Given the description of an element on the screen output the (x, y) to click on. 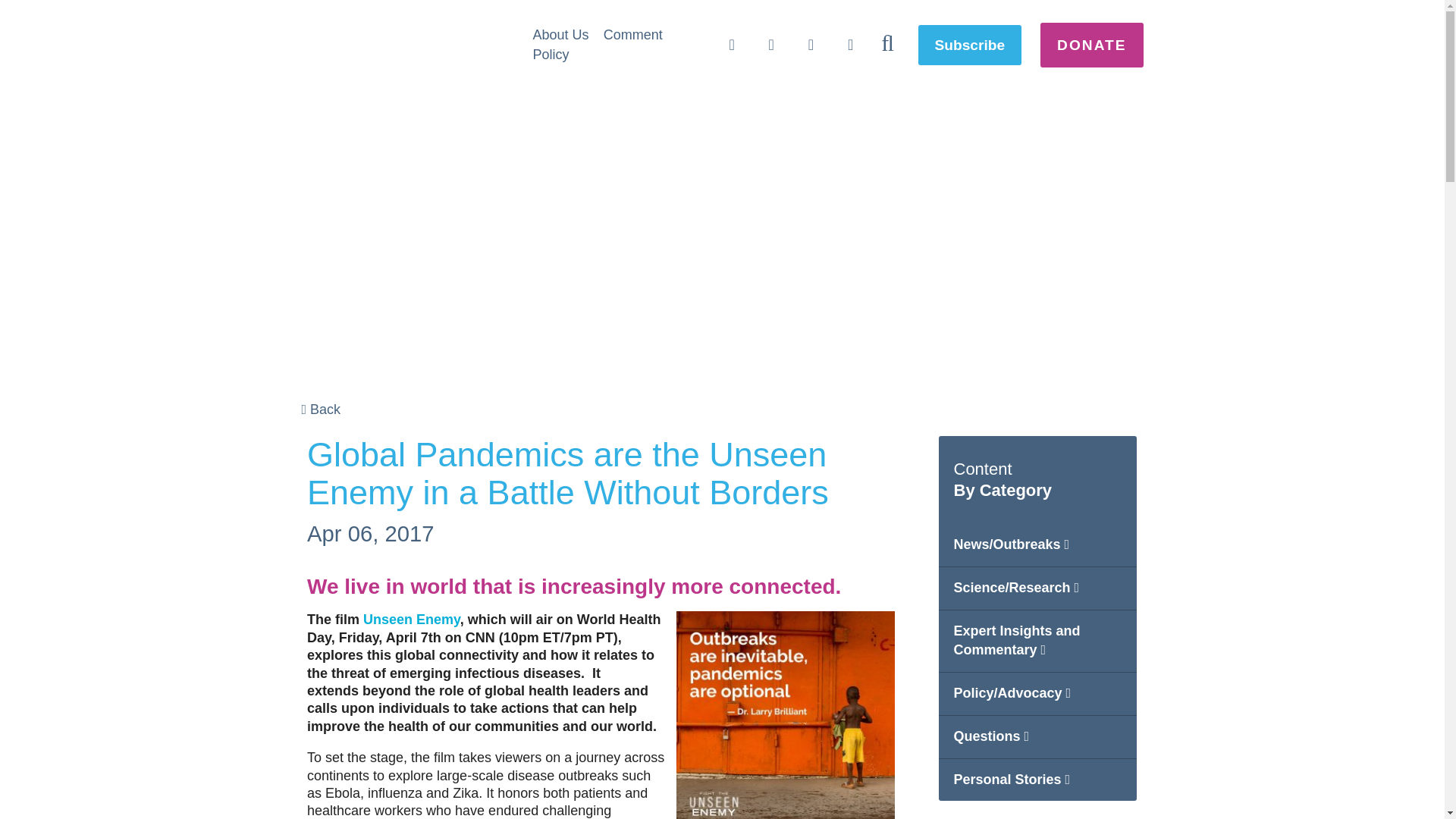
Back (320, 409)
Expert Insights and Commentary (1038, 641)
Subscribe (970, 45)
Personal Stories (1038, 780)
Comment Policy (597, 44)
About Us (560, 34)
Unseen Enemy (411, 619)
Questions (1038, 737)
DONATE (1091, 44)
